Given the description of an element on the screen output the (x, y) to click on. 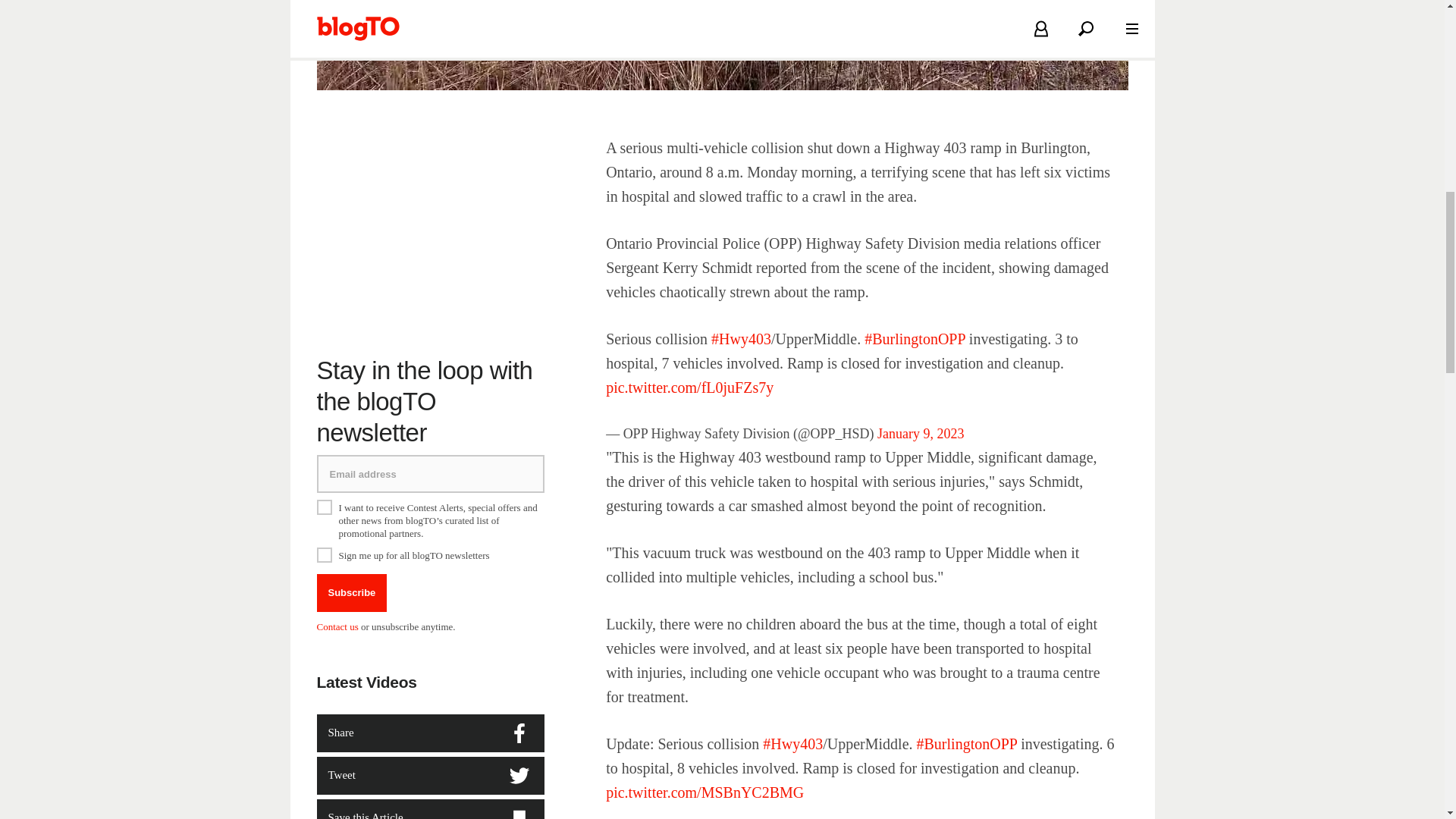
Subscribe (352, 592)
